Given the description of an element on the screen output the (x, y) to click on. 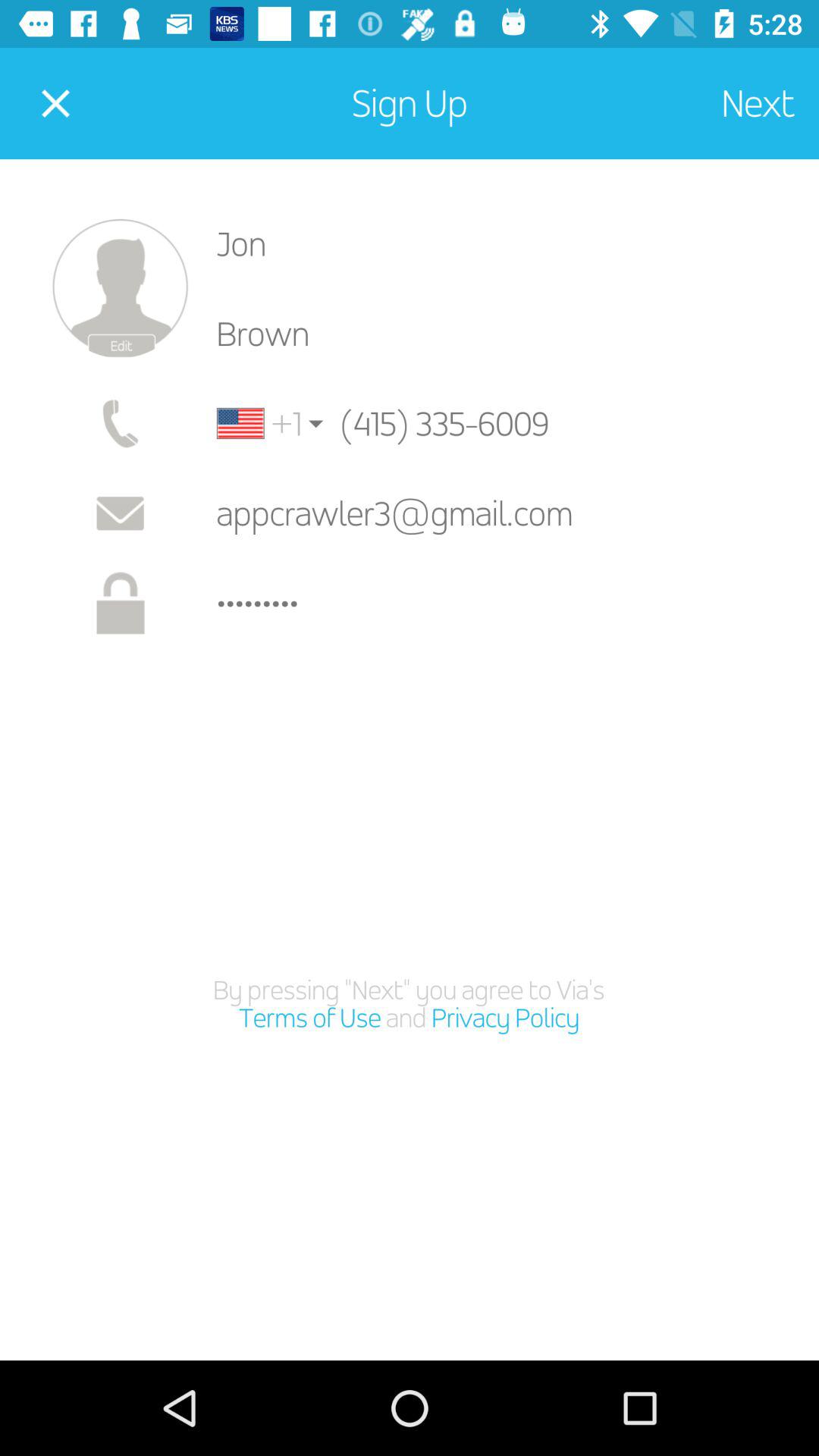
tap brown item (505, 333)
